Given the description of an element on the screen output the (x, y) to click on. 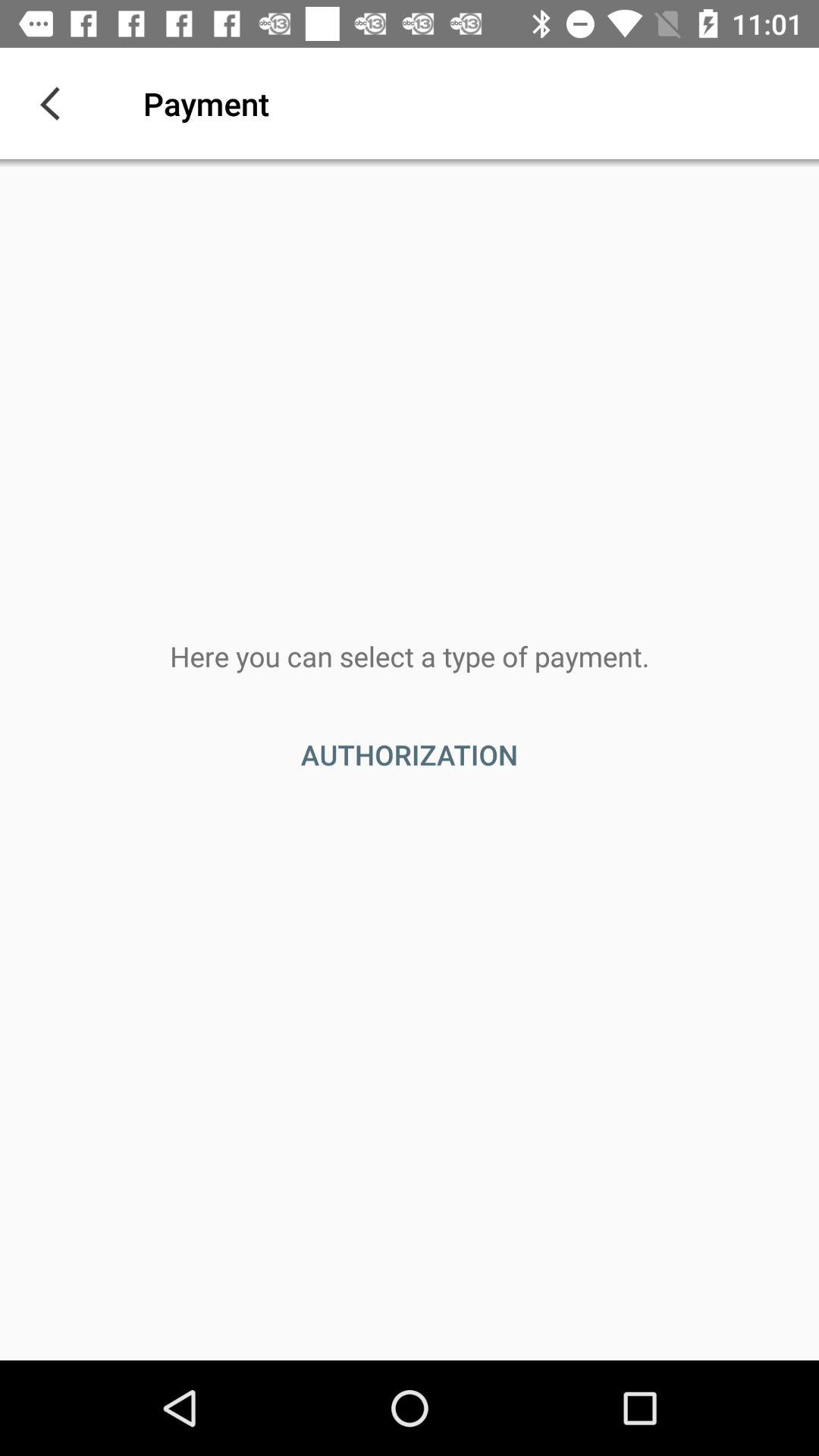
click the authorization (409, 754)
